Given the description of an element on the screen output the (x, y) to click on. 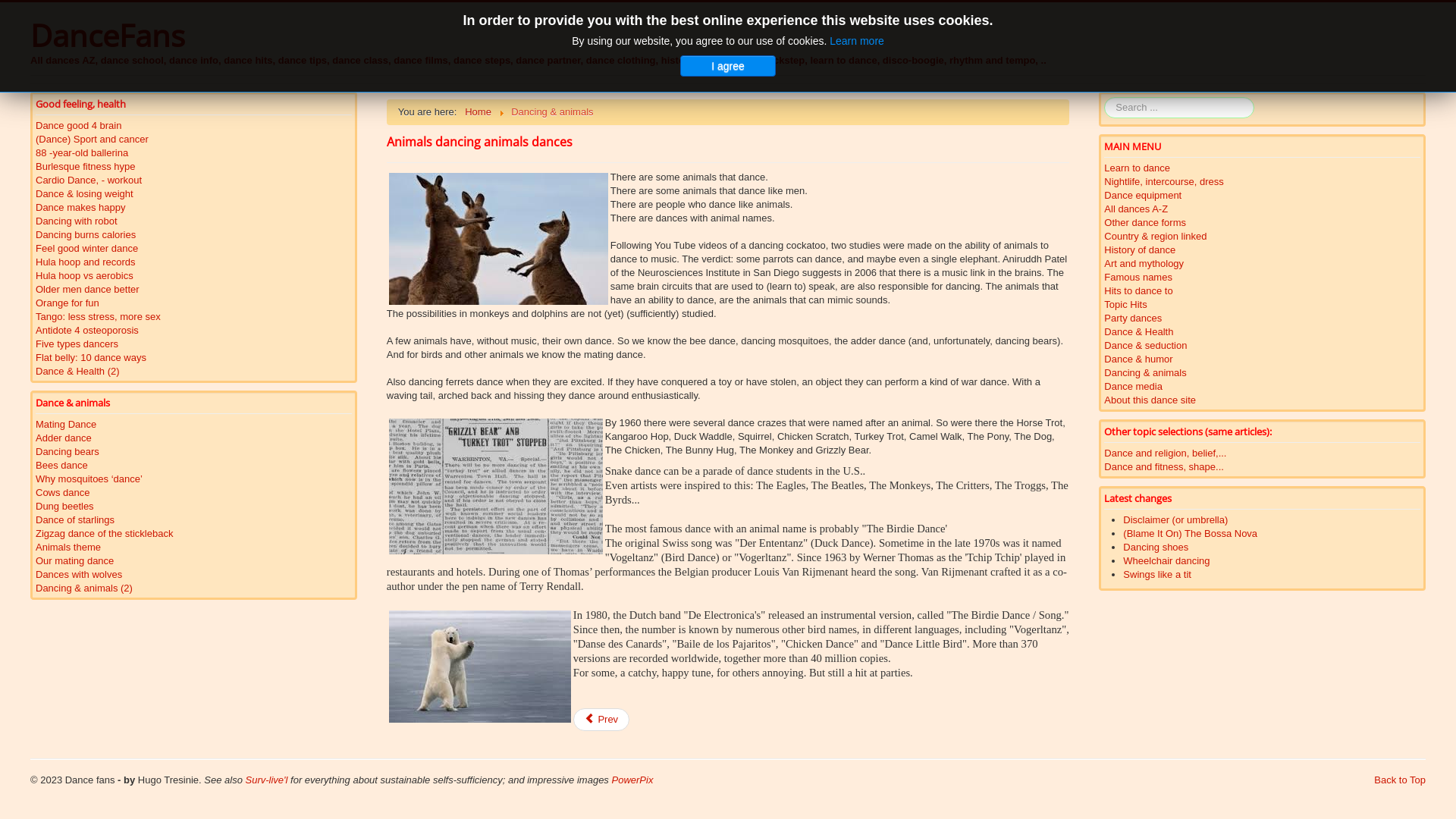
Dance & losing weight Element type: text (193, 193)
Bees dance Element type: text (193, 465)
Older men dance better Element type: text (193, 289)
Tango: less stress, more sex Element type: text (193, 316)
Famous names Element type: text (1262, 277)
Cows dance Element type: text (193, 492)
Dance equipment Element type: text (1262, 195)
Our mating dance Element type: text (193, 560)
Antidote 4 osteoporosis Element type: text (193, 330)
(Dance) Sport and cancer Element type: text (193, 139)
Disclaimer (or umbrella) Element type: text (1175, 519)
Dance of starlings Element type: text (193, 520)
Home Element type: text (477, 111)
All dances A-Z Element type: text (1262, 209)
Art and mythology Element type: text (1262, 263)
Burlesque fitness hype Element type: text (193, 166)
Dance and religion, belief,... Element type: text (1262, 453)
Dance media Element type: text (1262, 386)
Dance & seduction Element type: text (1262, 345)
Learn to dance Element type: text (1262, 168)
Orange for fun Element type: text (193, 303)
Dance & Health Element type: text (1262, 331)
(Blame It On) The Bossa Nova Element type: text (1190, 533)
88 -year-old ballerina Element type: text (193, 153)
Dancing burns calories Element type: text (193, 234)
Country & region linked Element type: text (1262, 236)
Swings like a tit Element type: text (1157, 574)
Dancing with robot Element type: text (193, 221)
Flat belly: 10 dance ways Element type: text (193, 357)
Prev Element type: text (601, 719)
Hula hoop vs aerobics Element type: text (193, 275)
About this dance site Element type: text (1262, 400)
Five types dancers Element type: text (193, 344)
Party dances Element type: text (1262, 318)
Dancing bears Element type: text (193, 451)
PowerPix Element type: text (631, 779)
Feel good winter dance Element type: text (193, 248)
Dance and fitness, shape... Element type: text (1262, 466)
Wheelchair dancing Element type: text (1166, 560)
Dance good 4 brain Element type: text (193, 125)
Dancing shoes Element type: text (1155, 546)
Adder dance Element type: text (193, 438)
Surv-live'l Element type: text (267, 779)
History of dance Element type: text (1262, 250)
Nightlife, intercourse, dress Element type: text (1262, 181)
Topic Hits Element type: text (1262, 304)
Dance & humor Element type: text (1262, 359)
Dance makes happy Element type: text (193, 207)
Learn more Element type: text (856, 40)
Mating Dance Element type: text (193, 424)
Animals theme Element type: text (193, 547)
Zigzag dance of the stickleback Element type: text (193, 533)
Back to Top Element type: text (1399, 779)
Dung beetles Element type: text (193, 506)
Cardio Dance, - workout Element type: text (193, 180)
Dancing & animals Element type: text (1262, 372)
Dances with wolves Element type: text (193, 574)
Hits to dance to Element type: text (1262, 291)
Dance & Health (2) Element type: text (193, 371)
Other dance forms Element type: text (1262, 222)
Dancing & animals (2) Element type: text (193, 588)
Hula hoop and records Element type: text (193, 262)
